Given the description of an element on the screen output the (x, y) to click on. 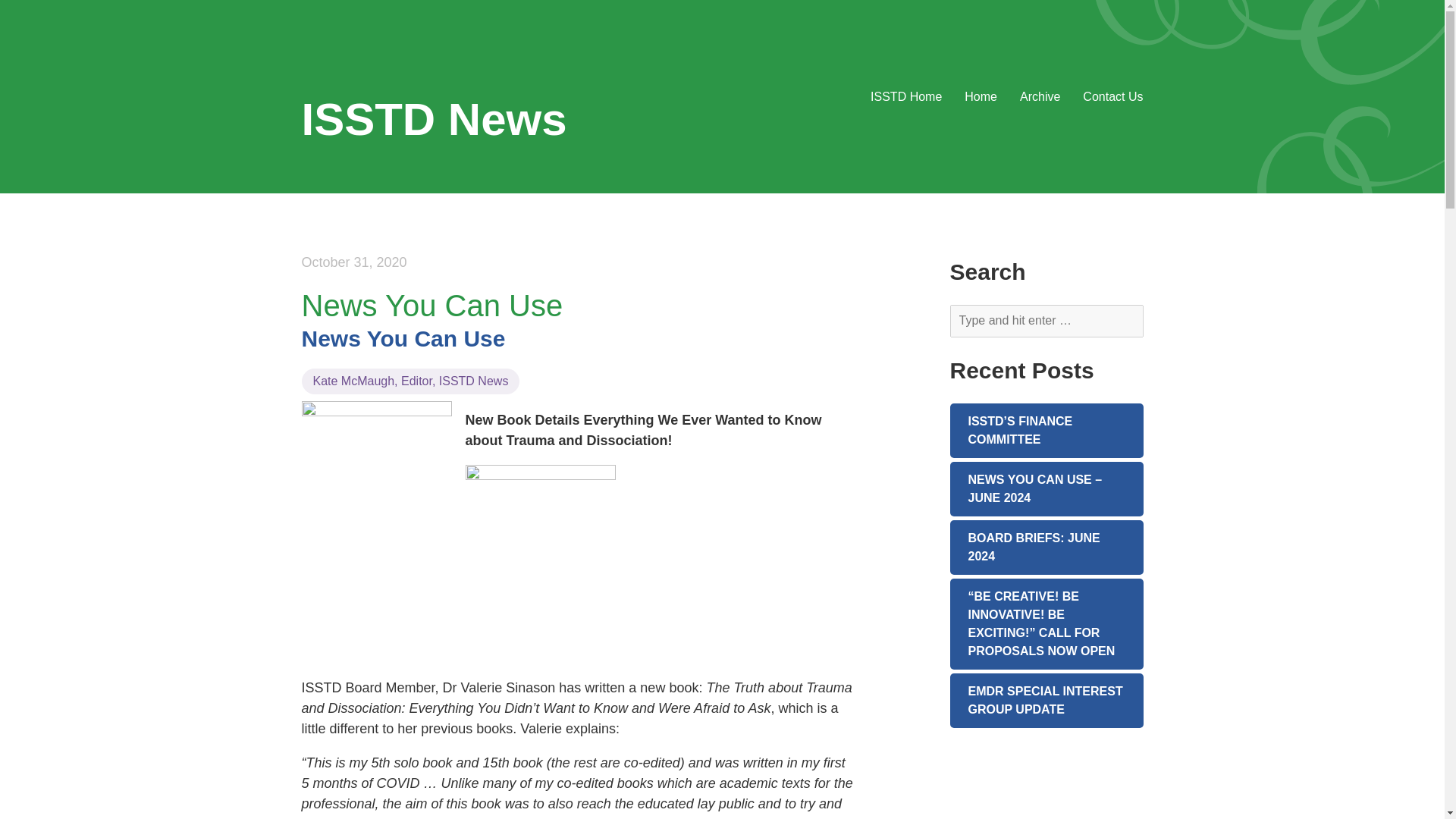
EMDR SPECIAL INTEREST GROUP UPDATE (1045, 700)
Archive (1039, 95)
BOARD BRIEFS: JUNE 2024 (1045, 547)
ISSTD Home (906, 95)
October 31, 2020 (354, 262)
News You Can Use (403, 338)
ISSTD News (434, 119)
News You Can Use (432, 305)
Home (980, 95)
Search (25, 9)
Contact Us (1112, 95)
